Given the description of an element on the screen output the (x, y) to click on. 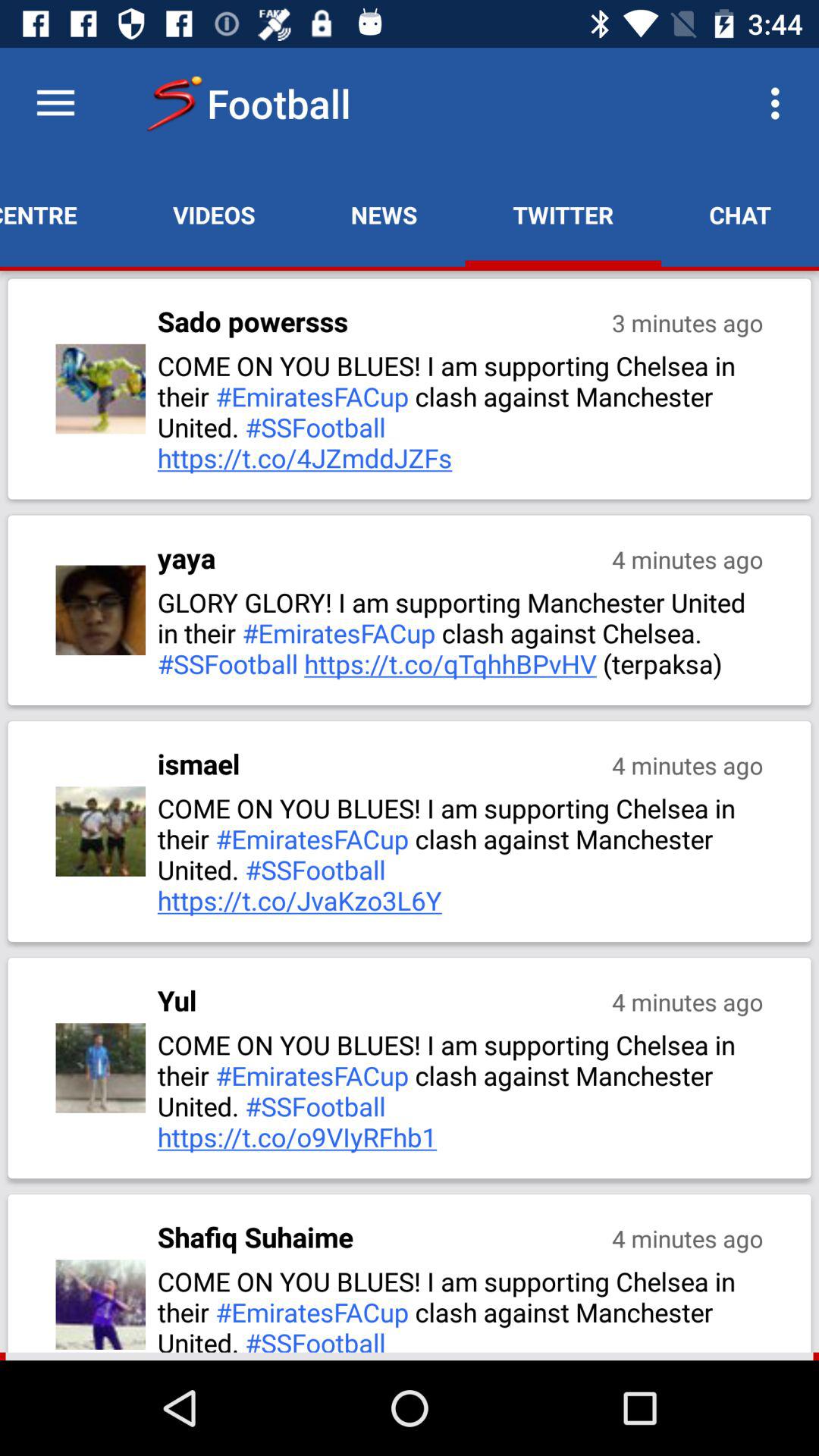
launch the icon to the left of the videos item (62, 214)
